Given the description of an element on the screen output the (x, y) to click on. 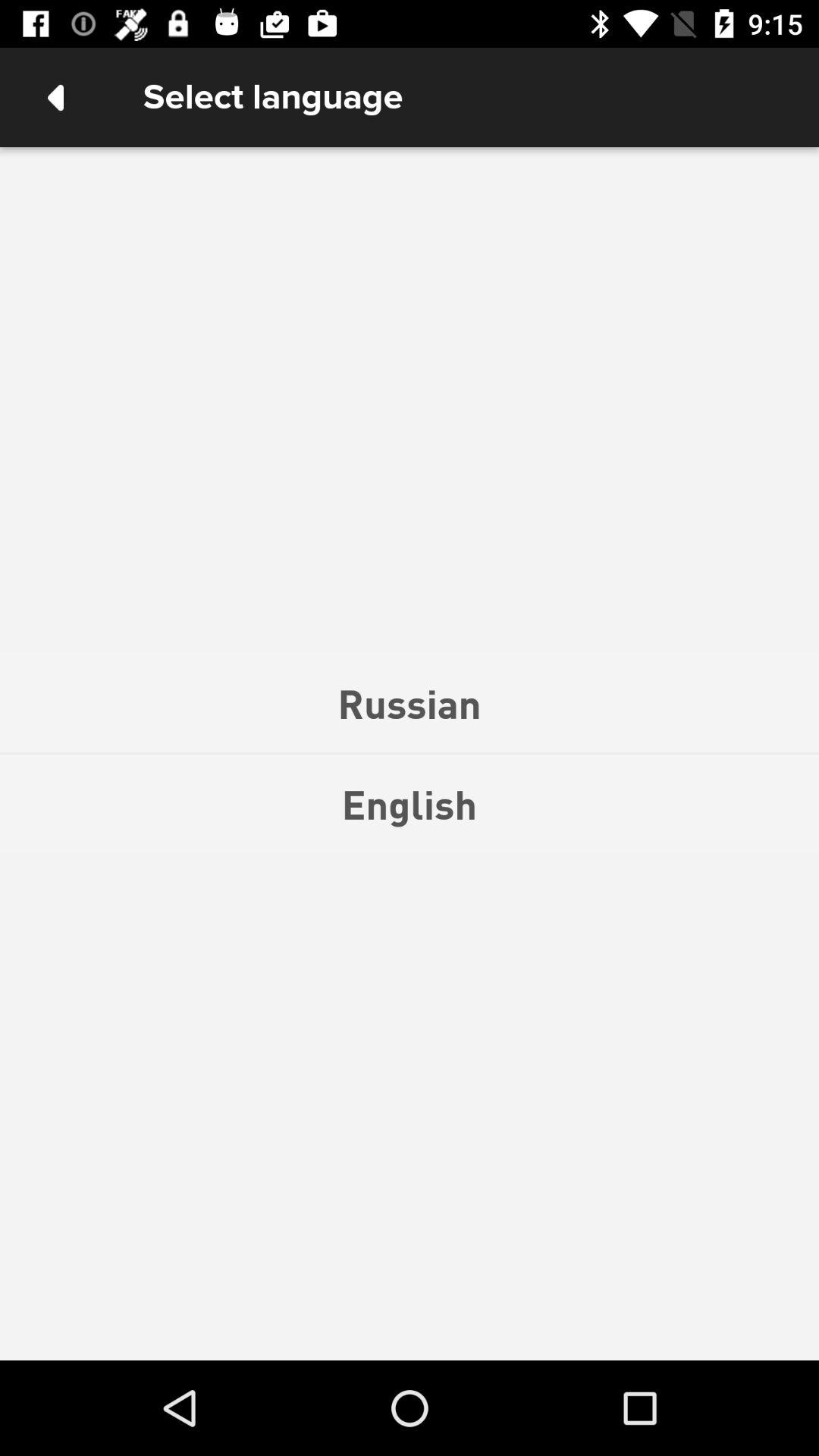
scroll until english (409, 803)
